Given the description of an element on the screen output the (x, y) to click on. 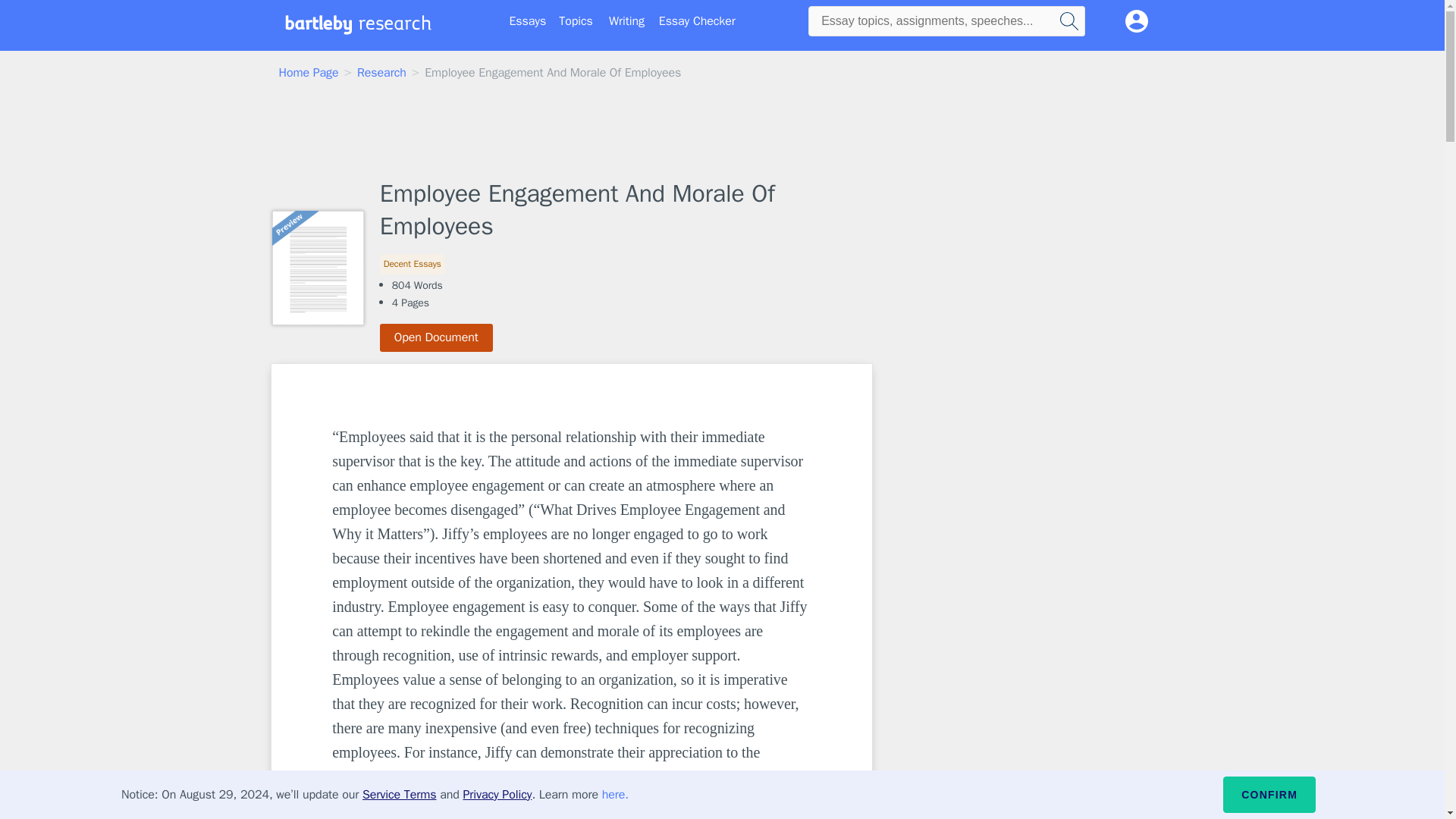
Open Document (436, 337)
Topics (575, 20)
Home Page (309, 72)
Research (381, 72)
Essays (528, 20)
Essay Checker (697, 20)
Writing (626, 20)
